Given the description of an element on the screen output the (x, y) to click on. 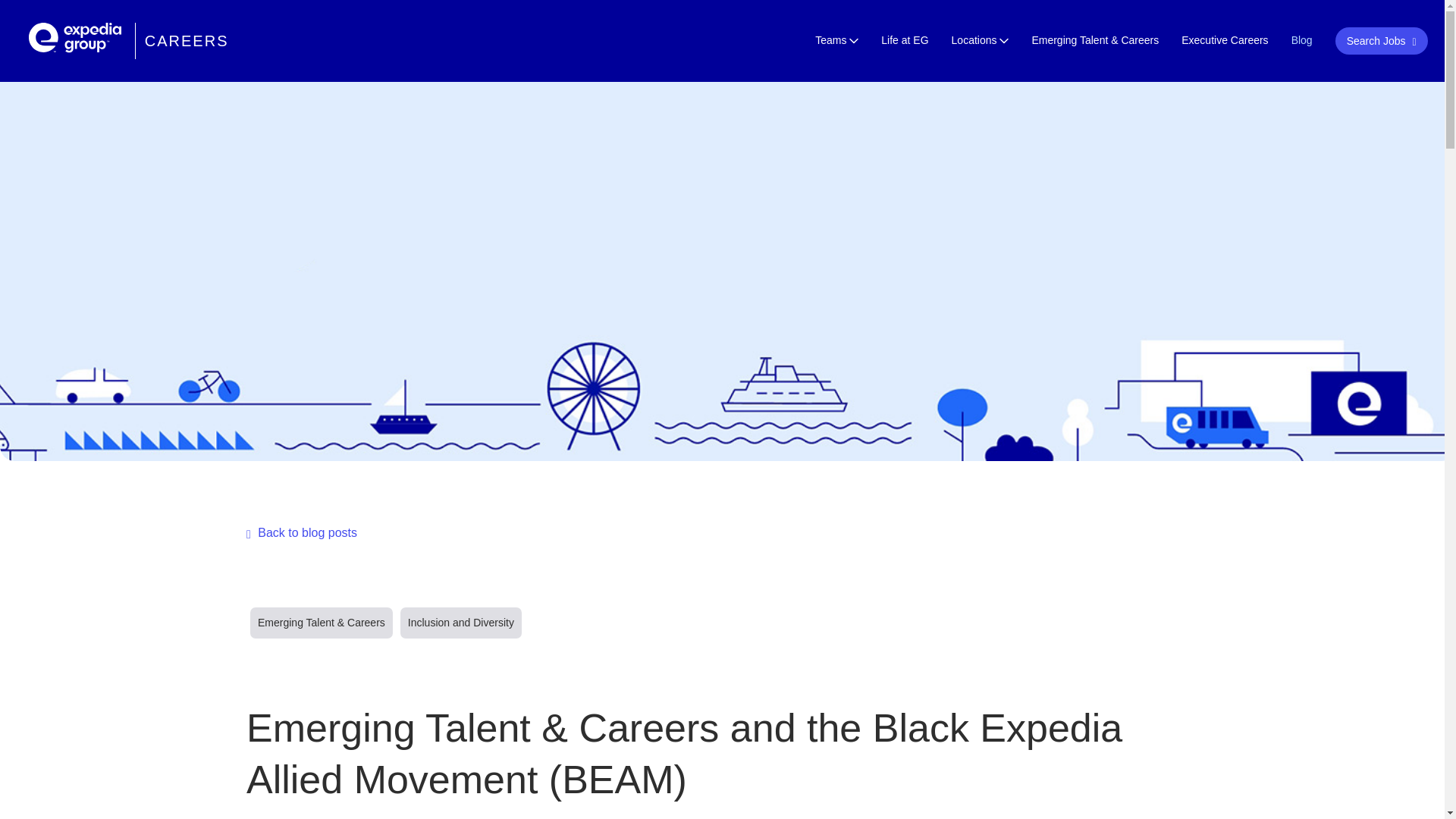
Life at EG (904, 39)
Locations (980, 39)
CAREERS (128, 40)
